Given the description of an element on the screen output the (x, y) to click on. 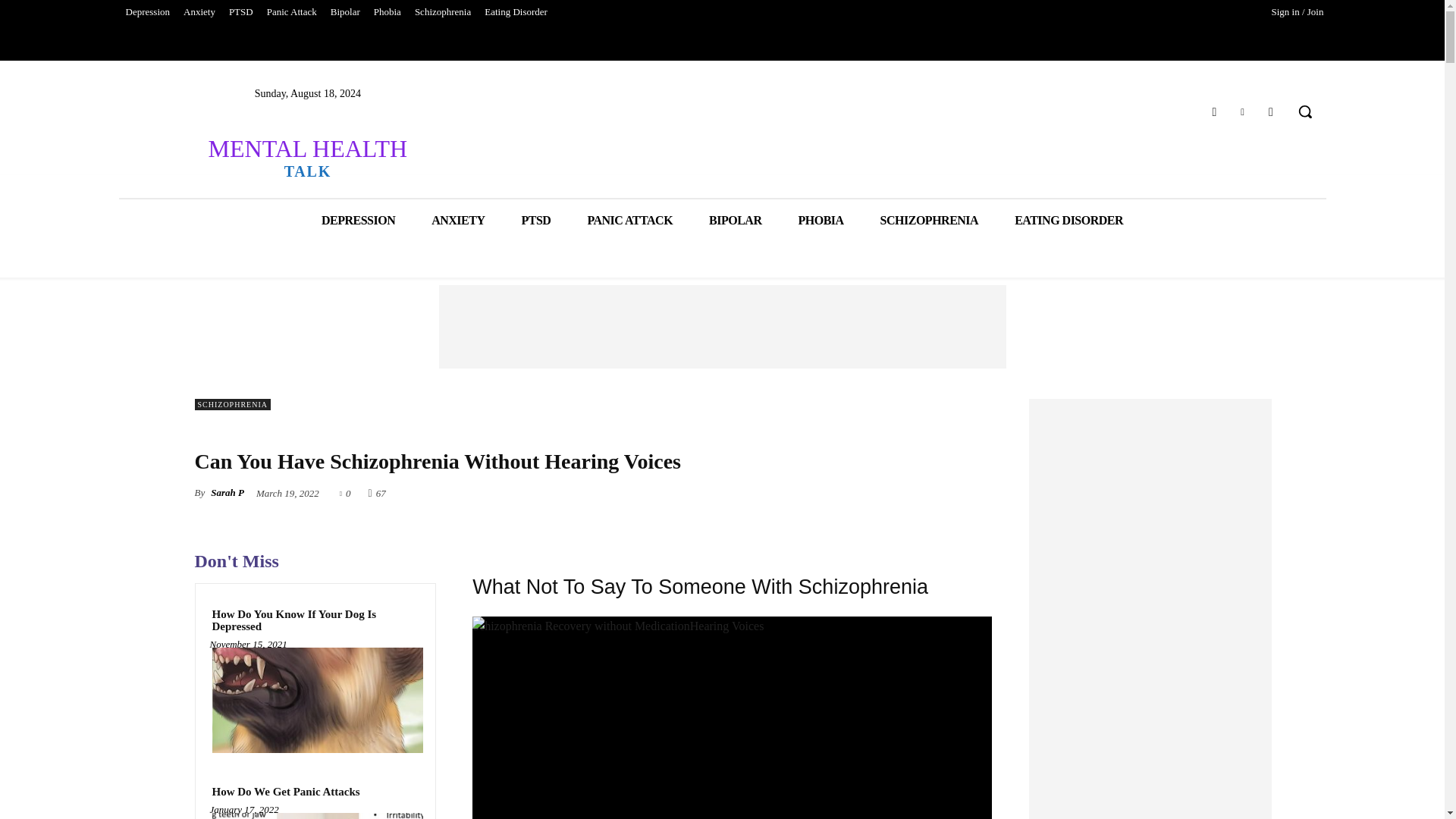
PANIC ATTACK (629, 219)
Youtube (1270, 111)
PTSD (241, 12)
How Do You Know If Your Dog Is Depressed (314, 620)
ANXIETY (457, 219)
Phobia (386, 12)
How Do We Get Panic Attacks (314, 816)
How Do We Get Panic Attacks (285, 791)
How Do You Know If Your Dog Is Depressed (314, 699)
Panic Attack (291, 12)
